Given the description of an element on the screen output the (x, y) to click on. 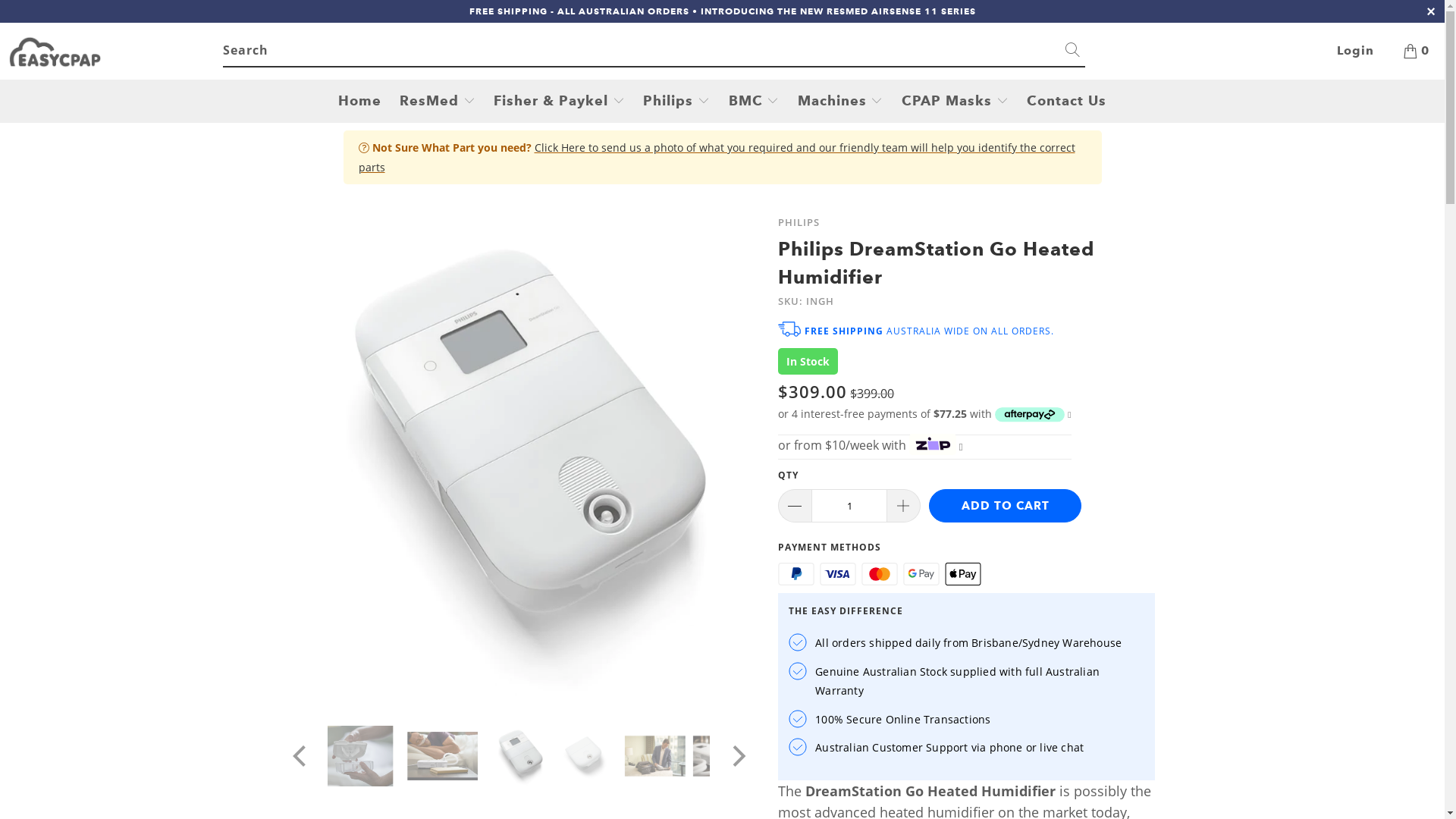
Philips Element type: text (676, 101)
BMC Element type: text (753, 101)
Login Element type: text (1355, 50)
Easy CPAP Element type: hover (114, 51)
FREE SHIPPING - ALL AUSTRALIAN ORDERS Element type: text (578, 10)
Contact Us Element type: text (1066, 101)
ResMed Element type: text (437, 101)
Machines Element type: text (840, 101)
ADD TO CART Element type: text (1004, 505)
CPAP Masks Element type: text (954, 101)
PHILIPS Element type: text (798, 222)
FREE SHIPPING AUSTRALIA WIDE ON ALL ORDERS. Element type: text (920, 330)
INTRODUCING THE NEW RESMED AIRSENSE 11 SERIES Element type: text (837, 10)
Home Element type: text (359, 101)
Fisher & Paykel Element type: text (558, 101)
0 Element type: text (1416, 50)
